Given the description of an element on the screen output the (x, y) to click on. 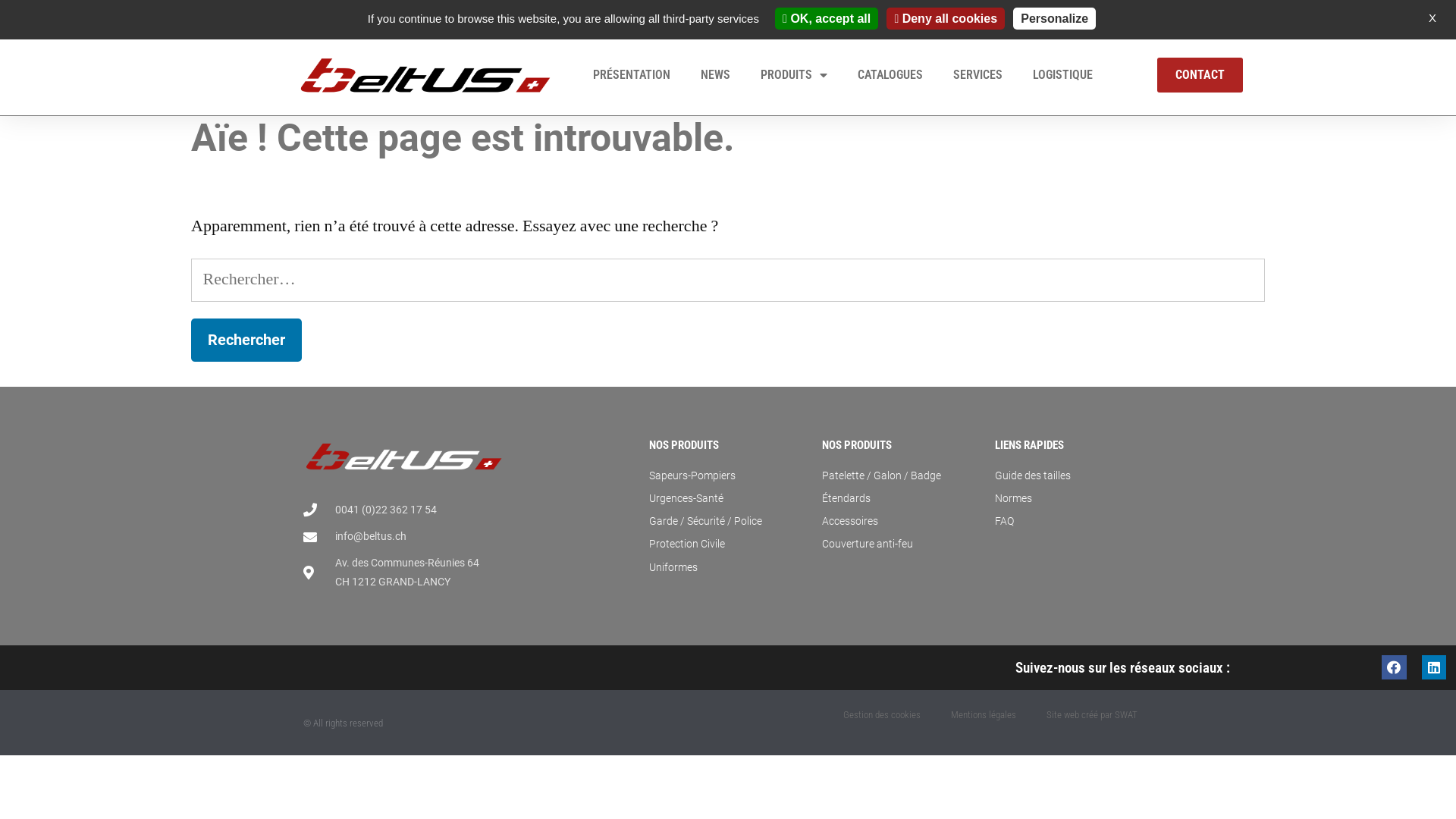
Uniformes Element type: text (727, 567)
Normes Element type: text (1073, 498)
SERVICES Element type: text (977, 74)
Protection Civile Element type: text (727, 543)
Deny all cookies Element type: text (945, 18)
FAQ Element type: text (1073, 520)
0041 (0)22 362 17 54 Element type: text (403, 509)
Couverture anti-feu Element type: text (900, 543)
PRODUITS Element type: text (793, 74)
info@beltus.ch Element type: text (403, 536)
NEWS Element type: text (715, 74)
+41 (0)22 362 17 54 Element type: text (354, 16)
CATALOGUES Element type: text (890, 74)
Accessoires Element type: text (900, 520)
OK, accept all Element type: text (826, 18)
Rechercher Element type: text (246, 339)
Guide des tailles Element type: text (1073, 475)
Les normes Element type: text (973, 17)
Guide des tailles Element type: text (1063, 17)
Personalize Element type: text (1054, 18)
LOGISTIQUE Element type: text (1062, 74)
CONTACT Element type: text (1199, 74)
Sapeurs-Pompiers Element type: text (727, 475)
Patelette / Galon / Badge Element type: text (900, 475)
FAQ Element type: text (1136, 17)
Gestion des cookies Element type: text (881, 714)
